Given the description of an element on the screen output the (x, y) to click on. 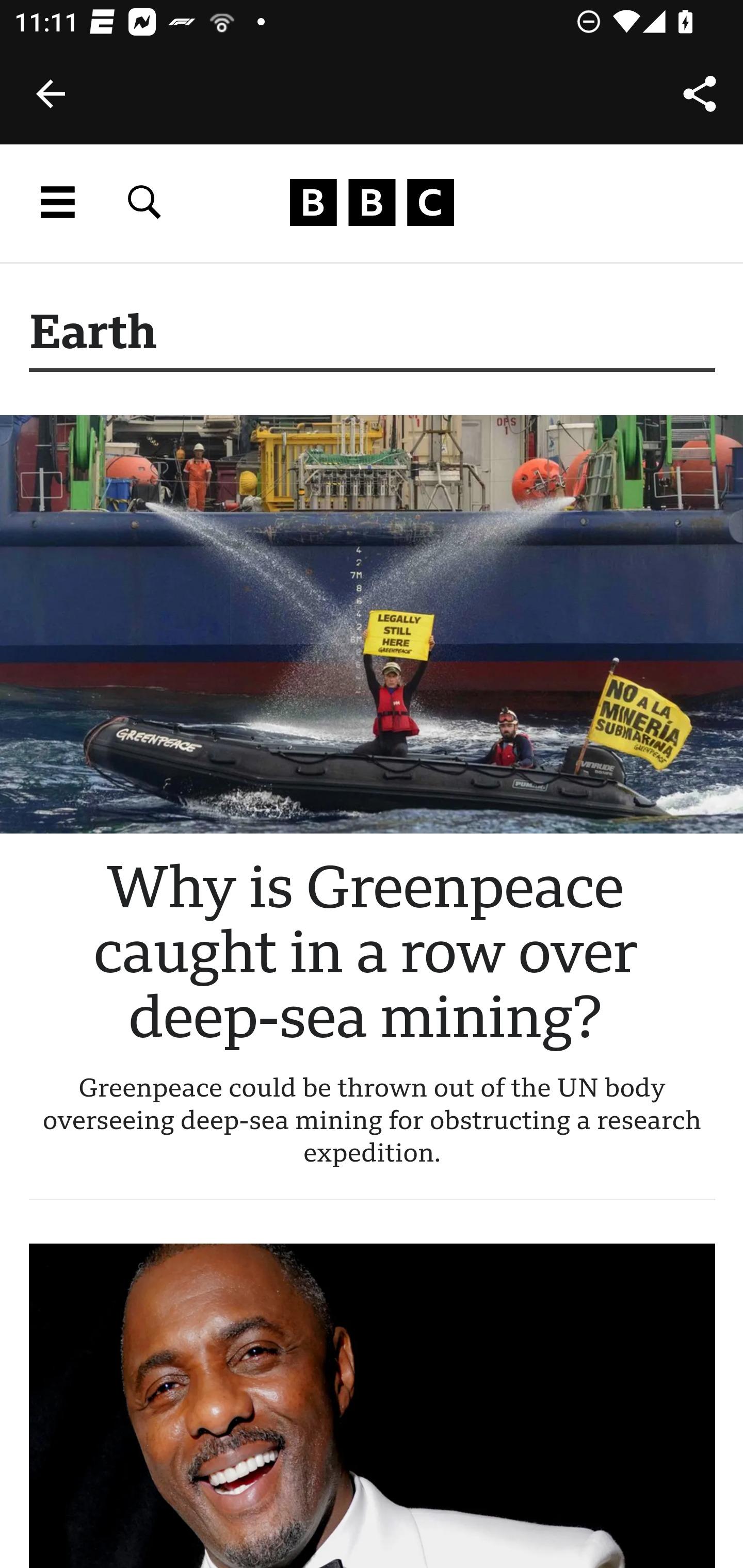
Back (50, 93)
Share (699, 93)
www.bbc (371, 203)
